Given the description of an element on the screen output the (x, y) to click on. 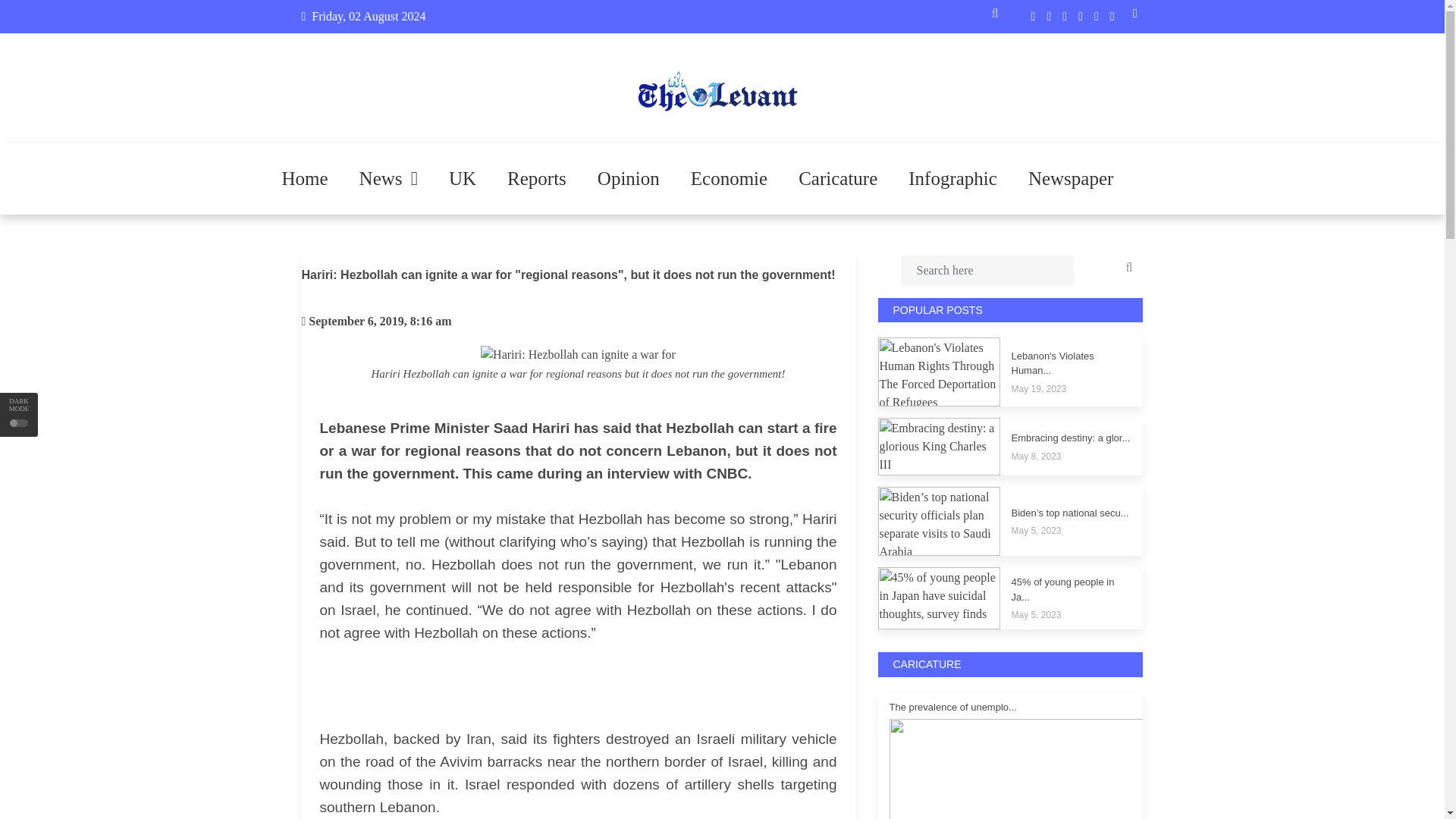
Infographic (952, 178)
Newspaper (1070, 178)
Opinion (628, 178)
Home (304, 178)
September 6, 2019, 8:16 am (379, 320)
UK (462, 178)
News (387, 178)
Caricature (837, 178)
Reports (536, 178)
Economie (729, 178)
